Given the description of an element on the screen output the (x, y) to click on. 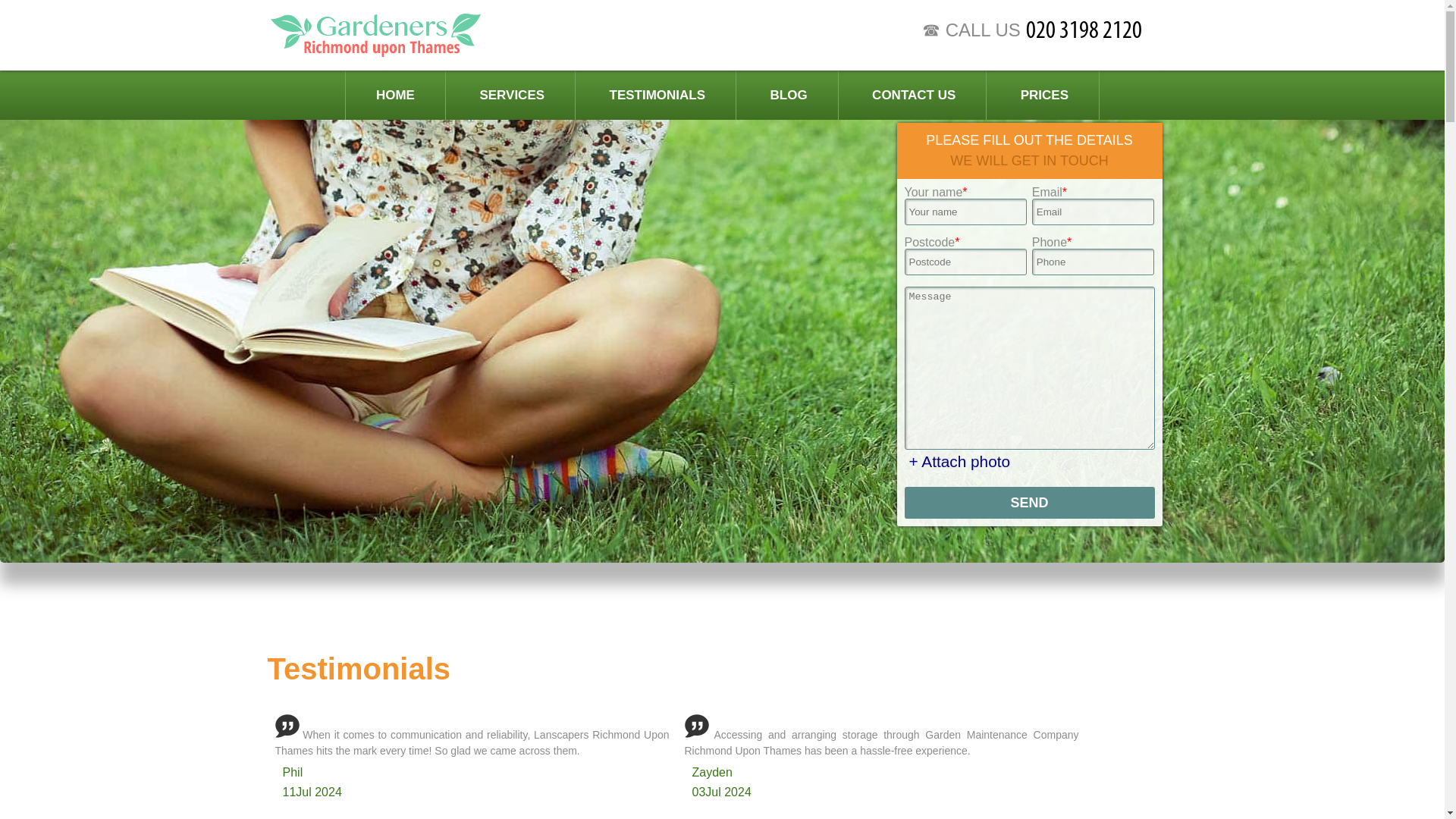
SERVICES (511, 94)
HOME (395, 94)
TESTIMONIALS (657, 94)
BLOG (788, 94)
PRICES (1044, 94)
CONTACT US (914, 94)
Call Now! (1100, 29)
